Given the description of an element on the screen output the (x, y) to click on. 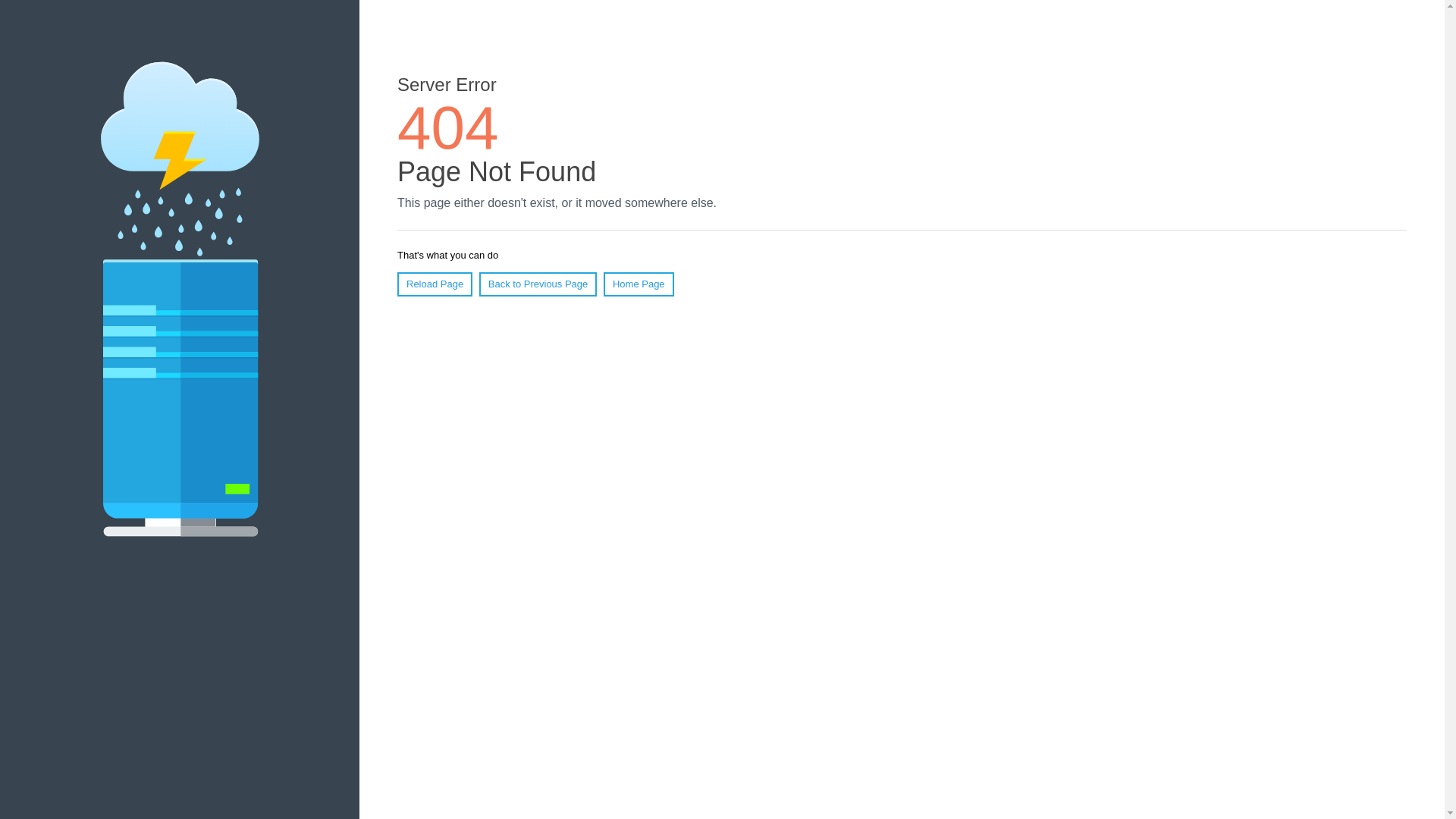
Reload Page Element type: text (434, 284)
Back to Previous Page Element type: text (538, 284)
Home Page Element type: text (638, 284)
